Given the description of an element on the screen output the (x, y) to click on. 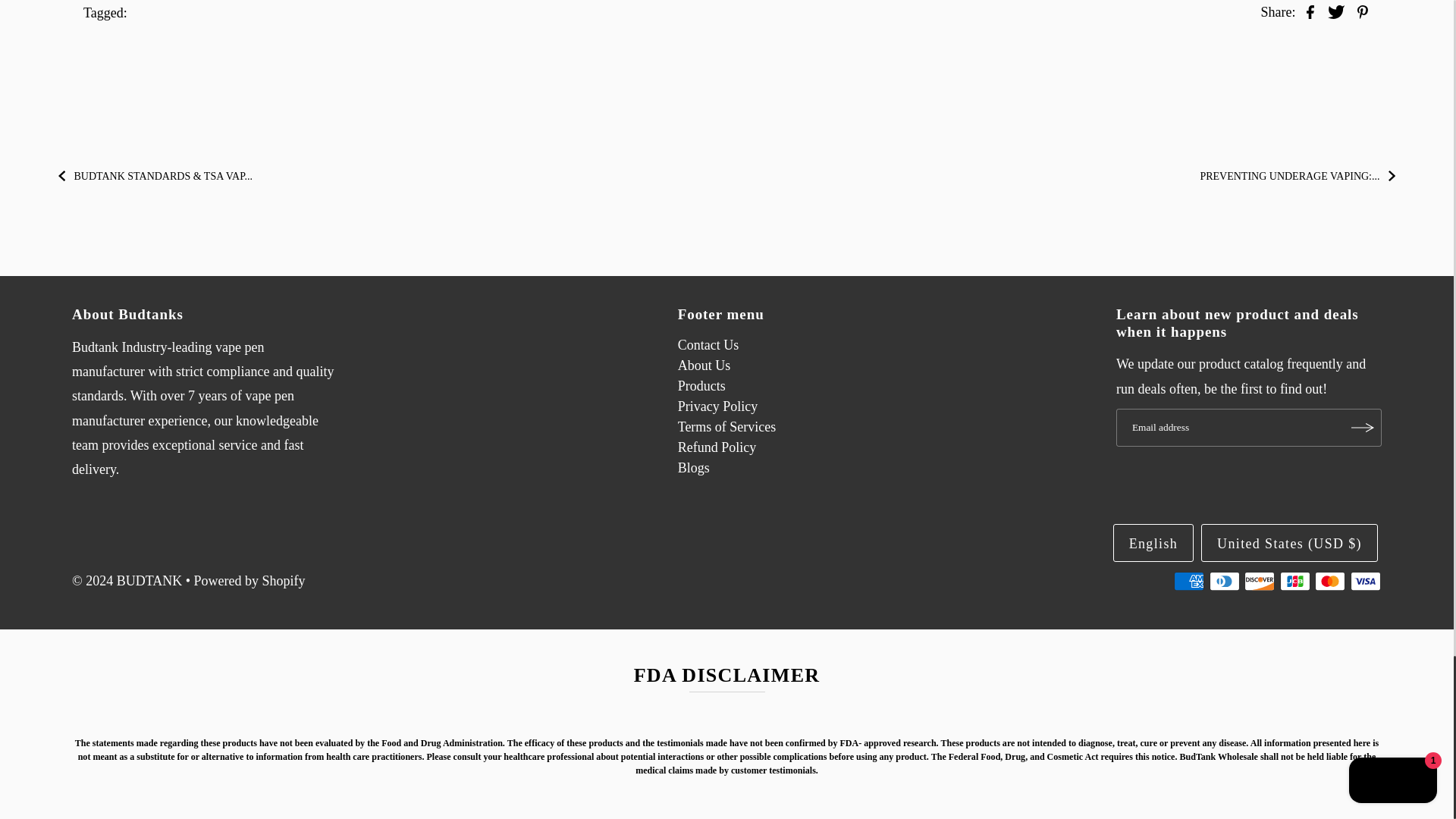
Diners Club (1224, 581)
JCB (1294, 581)
Discover (1259, 581)
Share on Facebook (1310, 11)
Visa (1365, 581)
American Express (1188, 581)
Share on Twitter (1336, 11)
Share on Pinterest (1362, 11)
Mastercard (1329, 581)
